Given the description of an element on the screen output the (x, y) to click on. 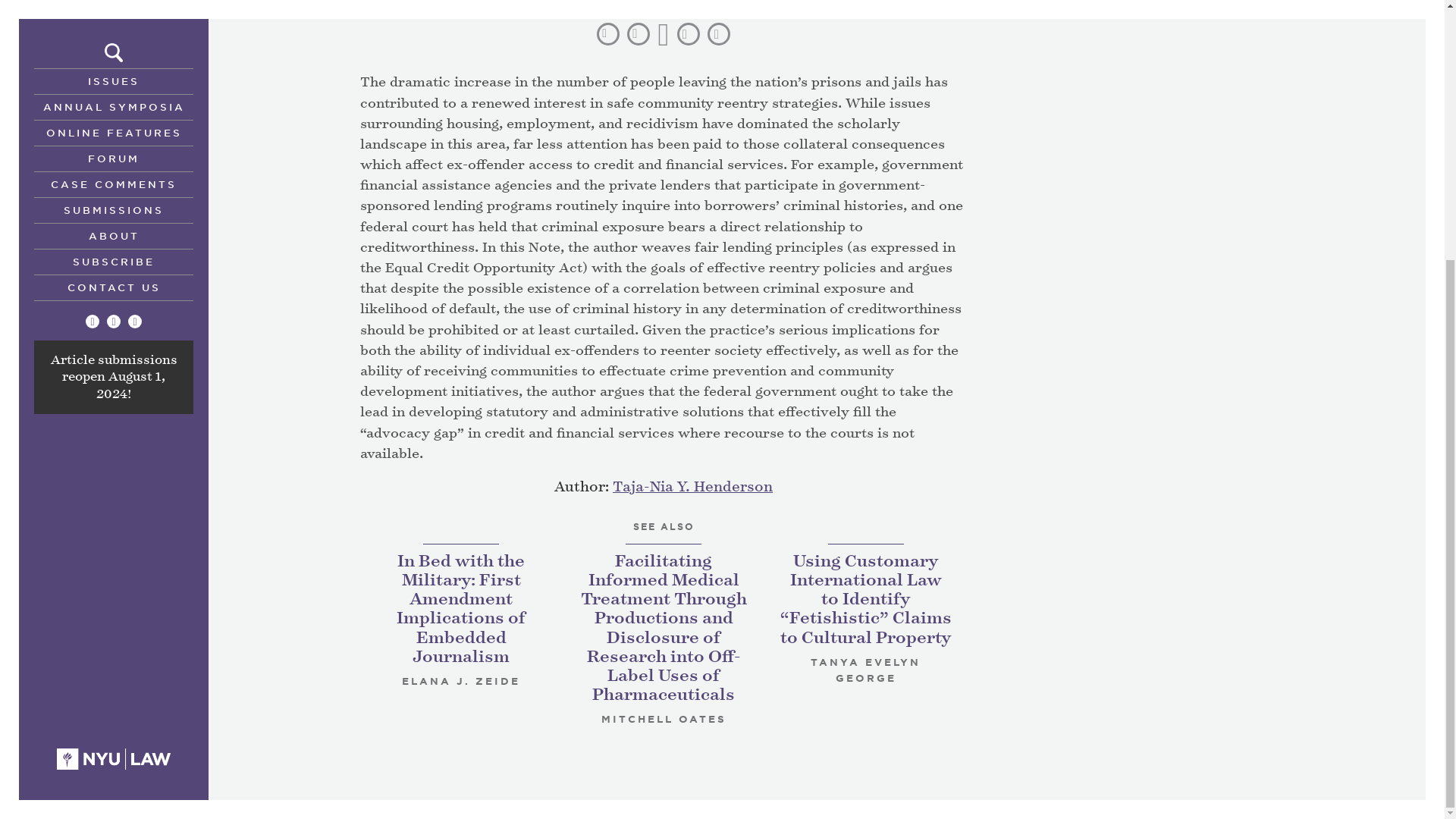
Article submissions reopen August 1, 2024! (112, 15)
Taja-Nia Y. Henderson (692, 486)
